Given the description of an element on the screen output the (x, y) to click on. 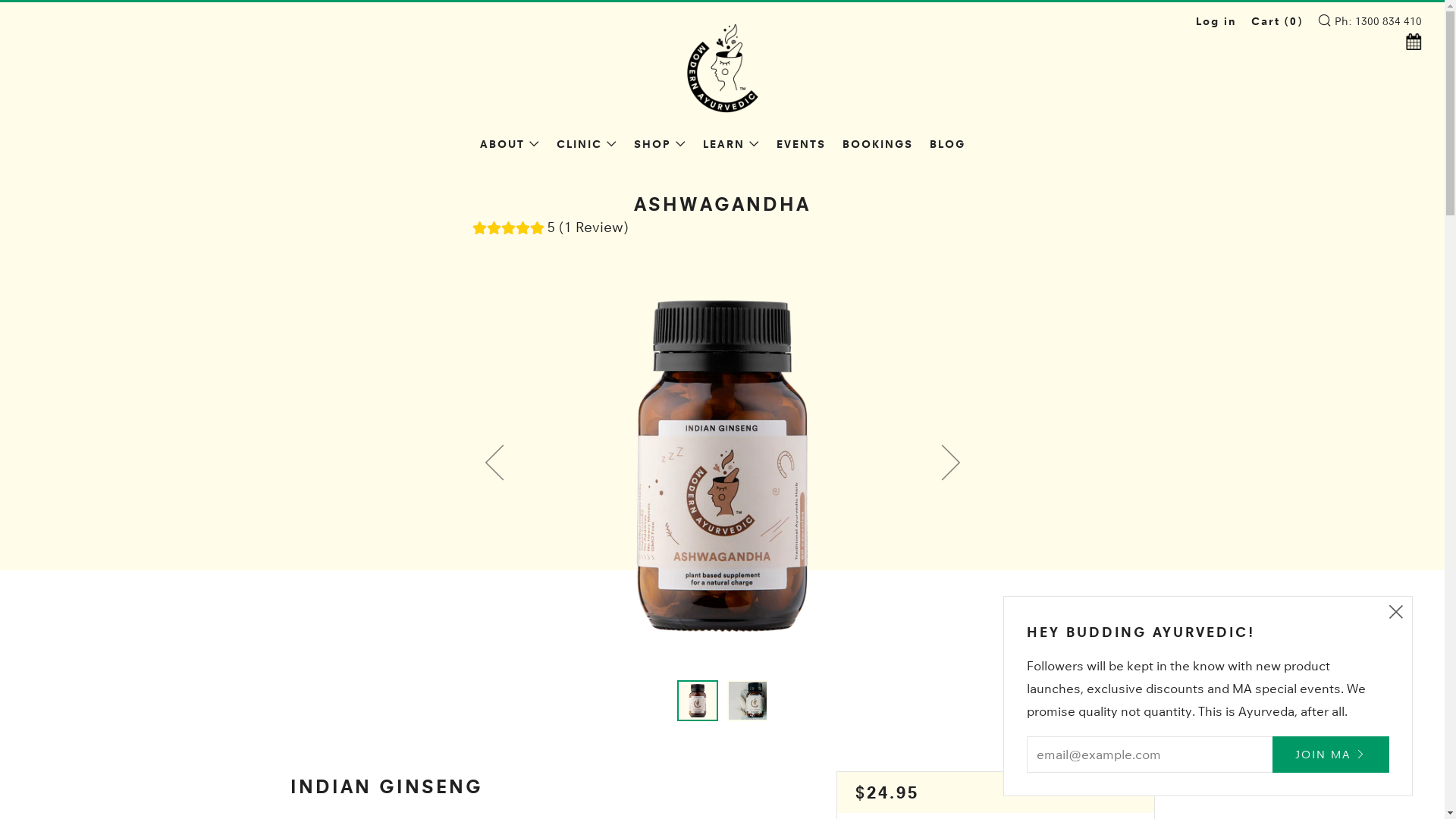
ABOUT Element type: text (509, 143)
Product image 1 Element type: text (696, 700)
Cart (0) Element type: text (1276, 21)
Product image 2 Element type: text (746, 700)
JOIN MA Element type: text (1330, 754)
BOOKINGS Element type: text (876, 143)
LEARN Element type: text (730, 143)
Book with MA Element type: hover (1410, 43)
Close (esc) Element type: text (1396, 612)
Search Element type: text (1324, 19)
BLOG Element type: text (947, 143)
CLINIC Element type: text (586, 143)
Log in Element type: text (1215, 21)
EVENTS Element type: text (800, 143)
SHOP Element type: text (659, 143)
Ph: 1300 834 410 Element type: text (1377, 21)
